Given the description of an element on the screen output the (x, y) to click on. 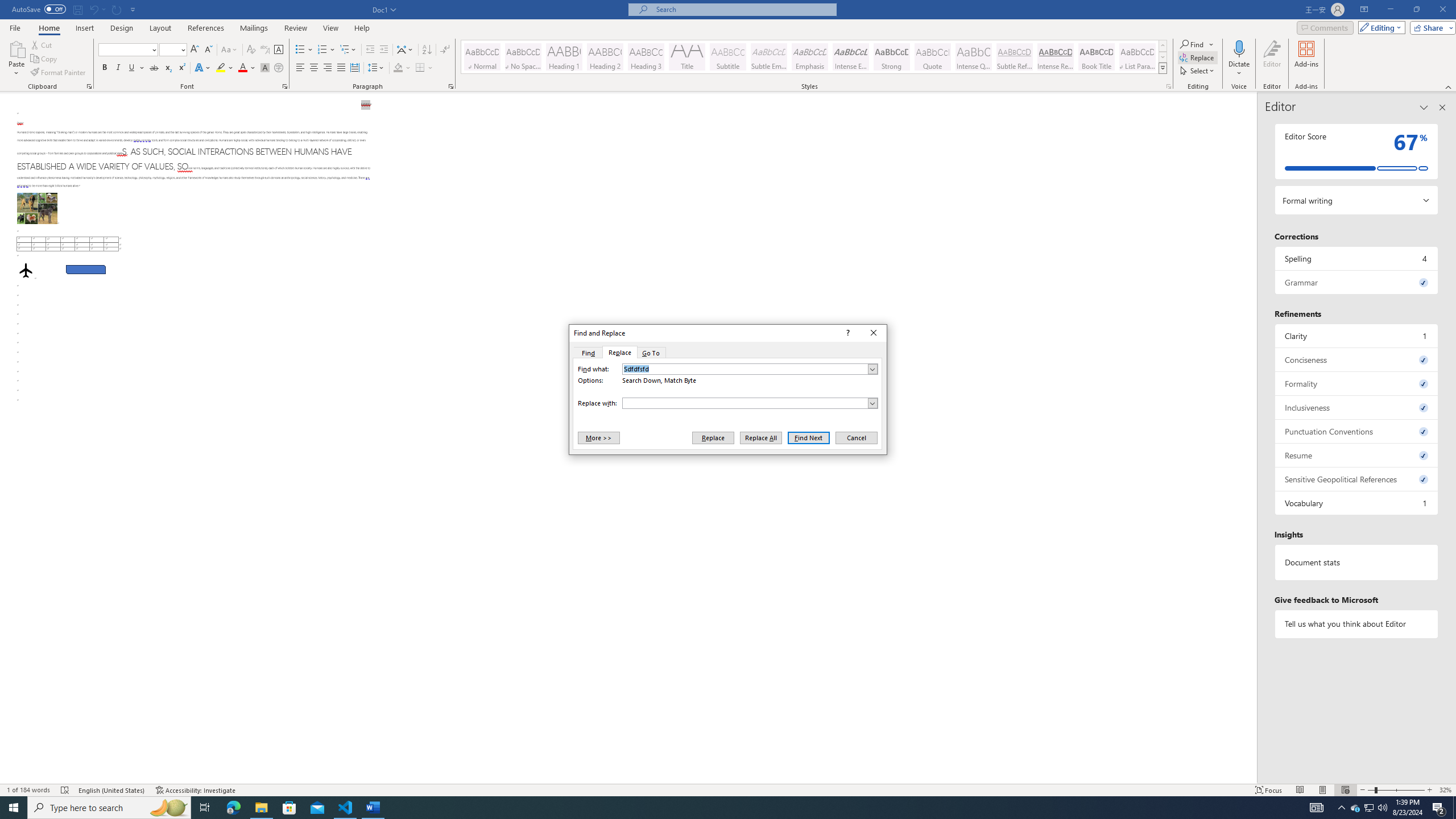
Undo Paragraph Alignment (96, 9)
Conciseness, 0 issues. Press space or enter to review items. (1356, 359)
Heading 3 (646, 56)
Document statistics (1356, 561)
Heading 2 (605, 56)
